Given the description of an element on the screen output the (x, y) to click on. 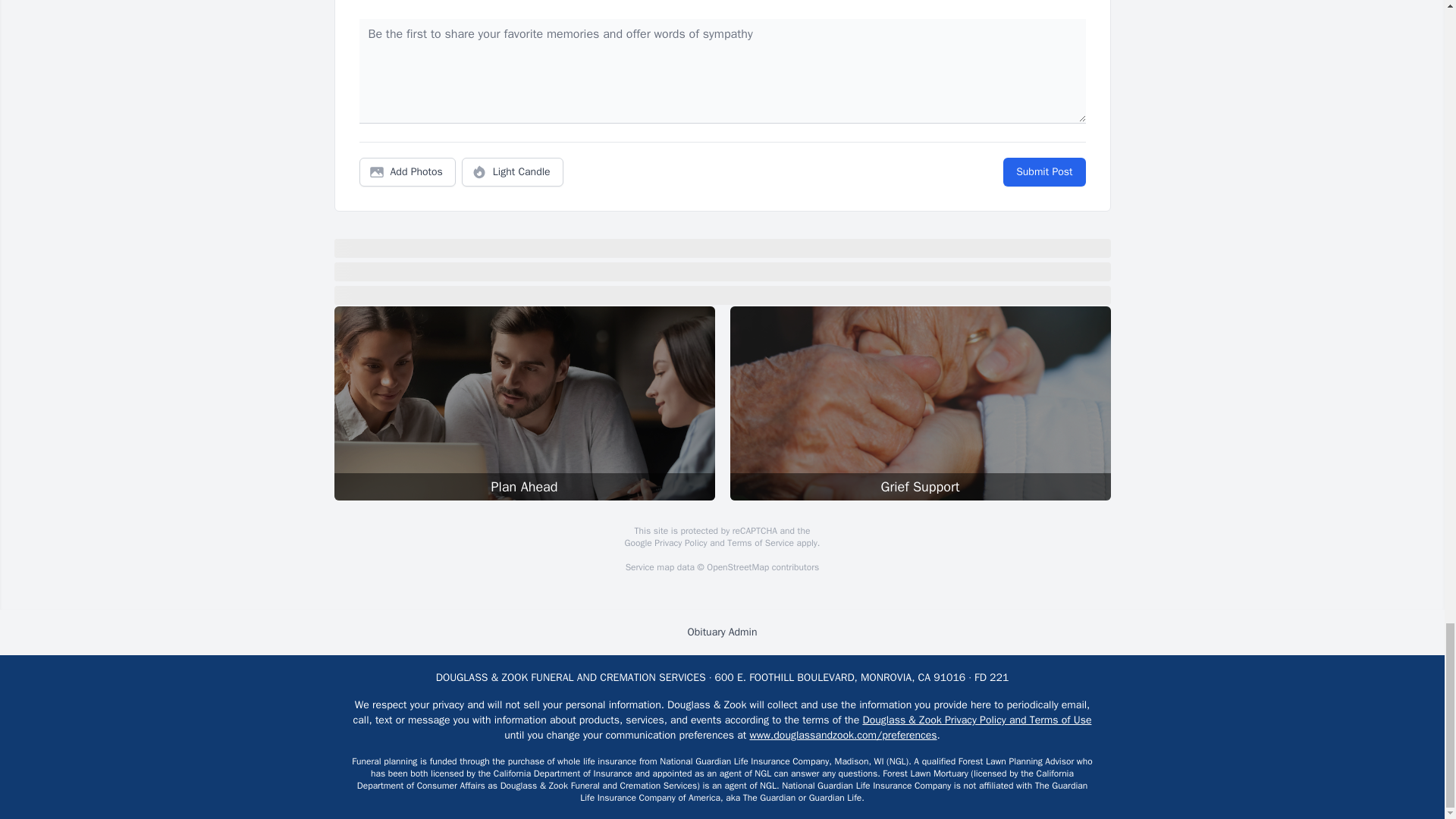
Light Candle (512, 172)
Submit Post (1043, 172)
Grief Support (919, 403)
OpenStreetMap (737, 567)
Privacy Policy (679, 542)
Obituary Admin (722, 631)
Terms of Service (759, 542)
Add Photos (407, 172)
Plan Ahead (523, 403)
